Given the description of an element on the screen output the (x, y) to click on. 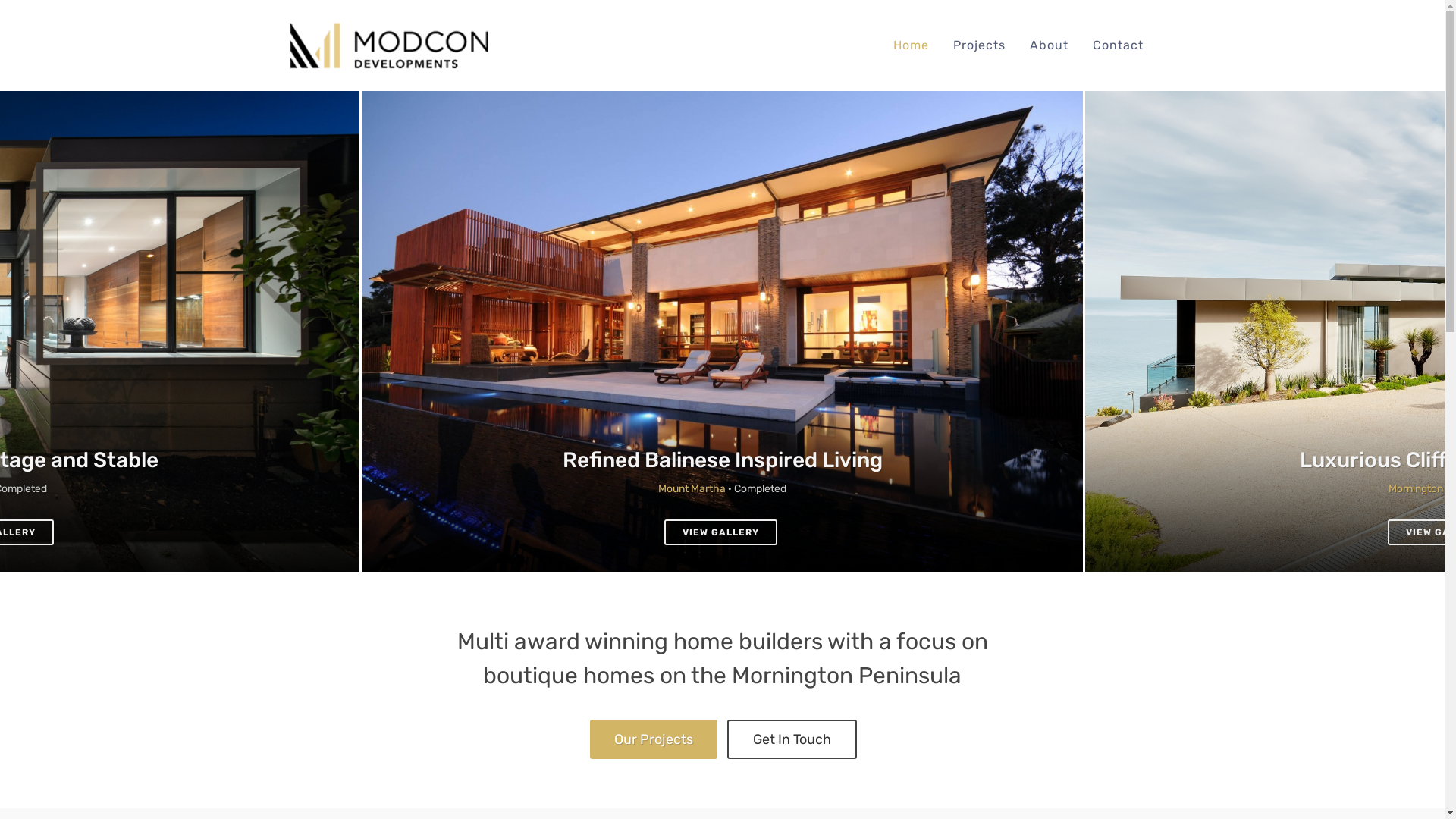
Contact Element type: text (1117, 45)
Our Projects Element type: text (653, 739)
VIEW GALLERY Element type: text (720, 532)
Projects Element type: text (978, 45)
Home Element type: text (910, 45)
Get In Touch Element type: text (791, 739)
About Element type: text (1048, 45)
